Given the description of an element on the screen output the (x, y) to click on. 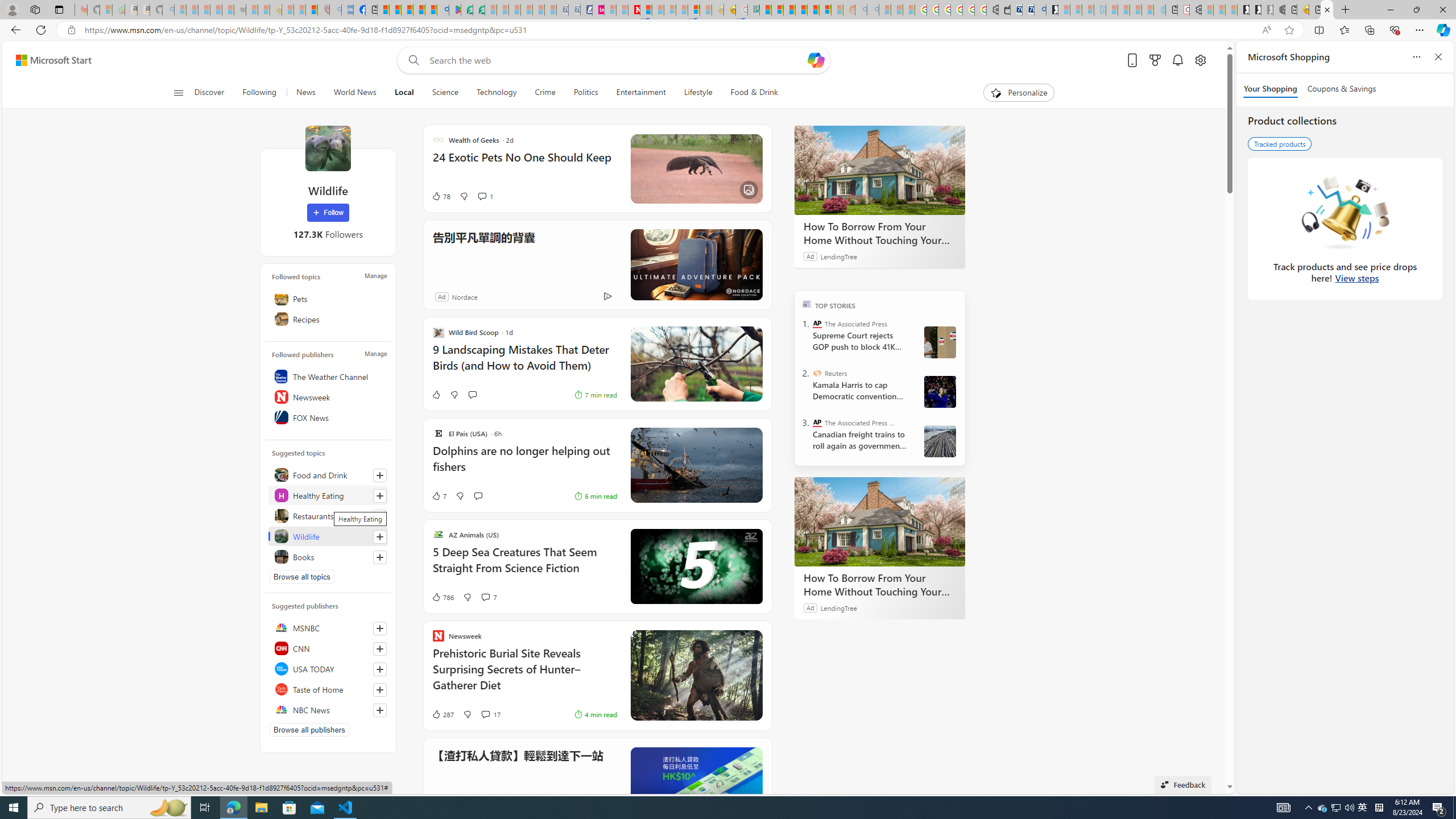
Entertainment (640, 92)
Wildlife (327, 536)
Food & Drink (753, 92)
The Associated Press - Business News (816, 422)
Browse all publishers (309, 729)
